Given the description of an element on the screen output the (x, y) to click on. 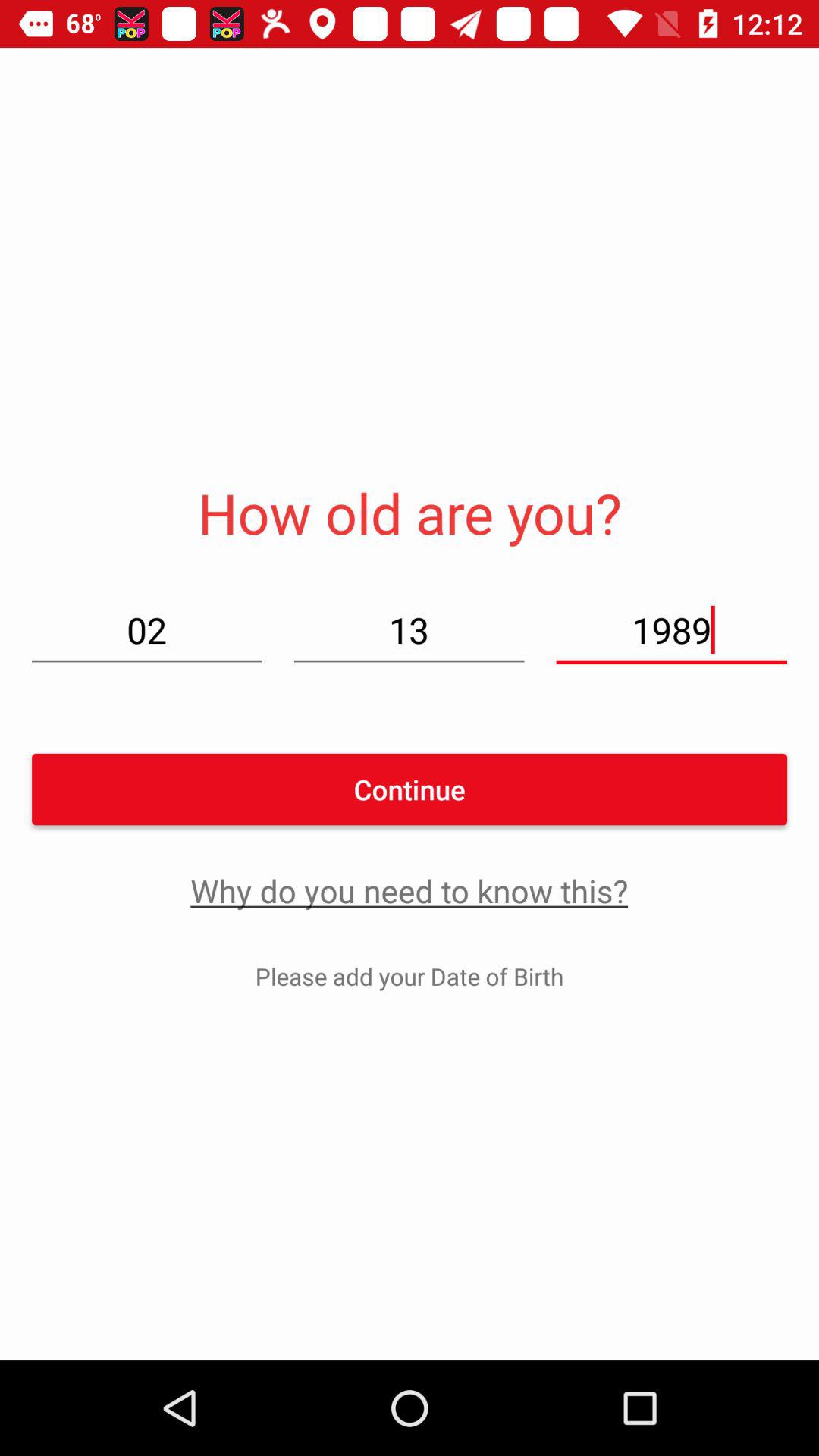
tap 13 (409, 629)
